Given the description of an element on the screen output the (x, y) to click on. 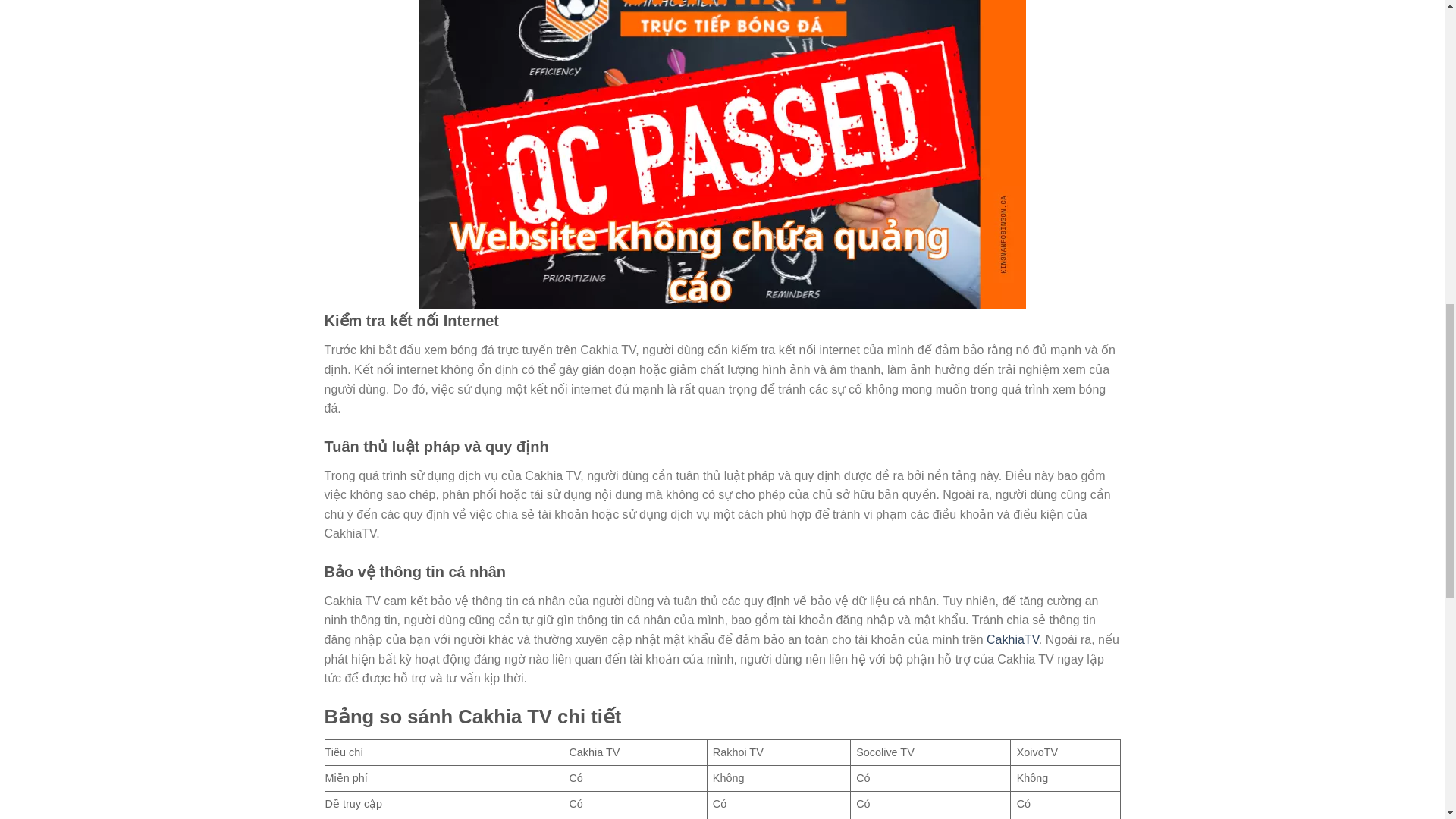
CakhiaTV (1013, 639)
